Given the description of an element on the screen output the (x, y) to click on. 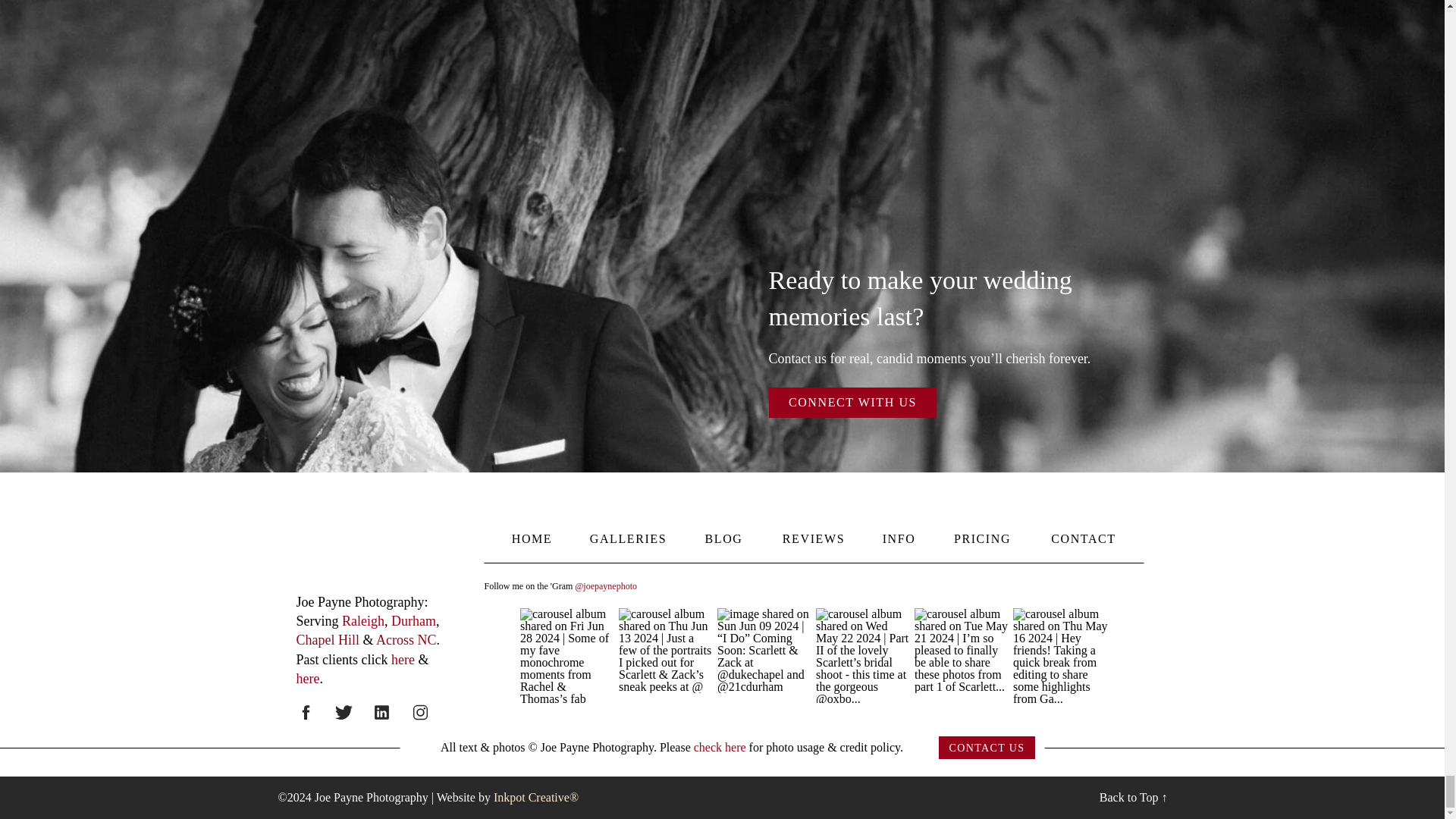
CONNECT WITH US (852, 401)
